Given the description of an element on the screen output the (x, y) to click on. 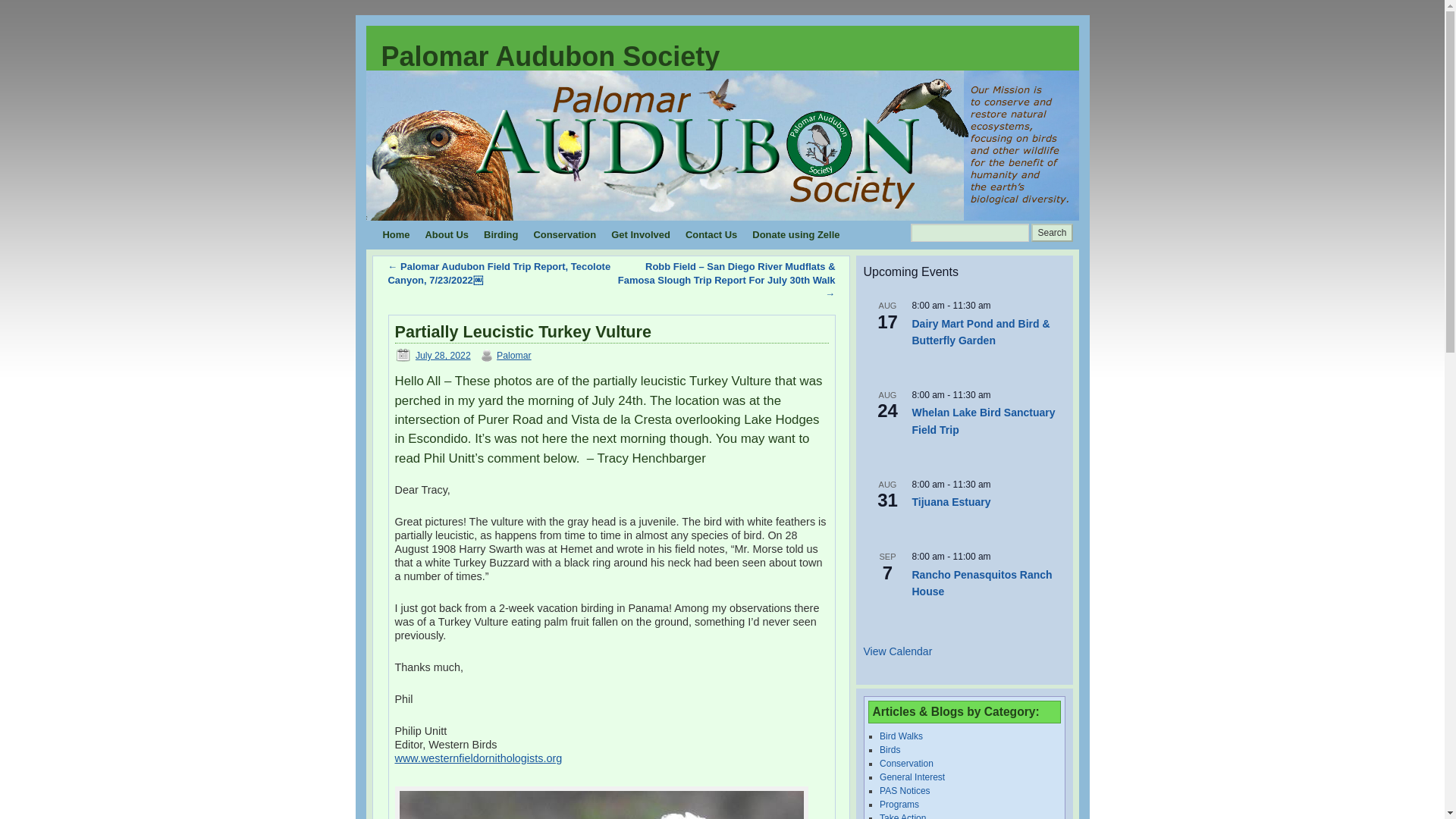
Birding (500, 234)
Palomar Audubon Society (549, 56)
Tijuana Estuary (950, 502)
Donate using Zelle (795, 234)
About Us (446, 234)
July 28, 2022 (442, 355)
www.westernfieldornithologists.org (478, 758)
1:20 pm (442, 355)
Contact Us (711, 234)
View all posts by Palomar (513, 355)
